Given the description of an element on the screen output the (x, y) to click on. 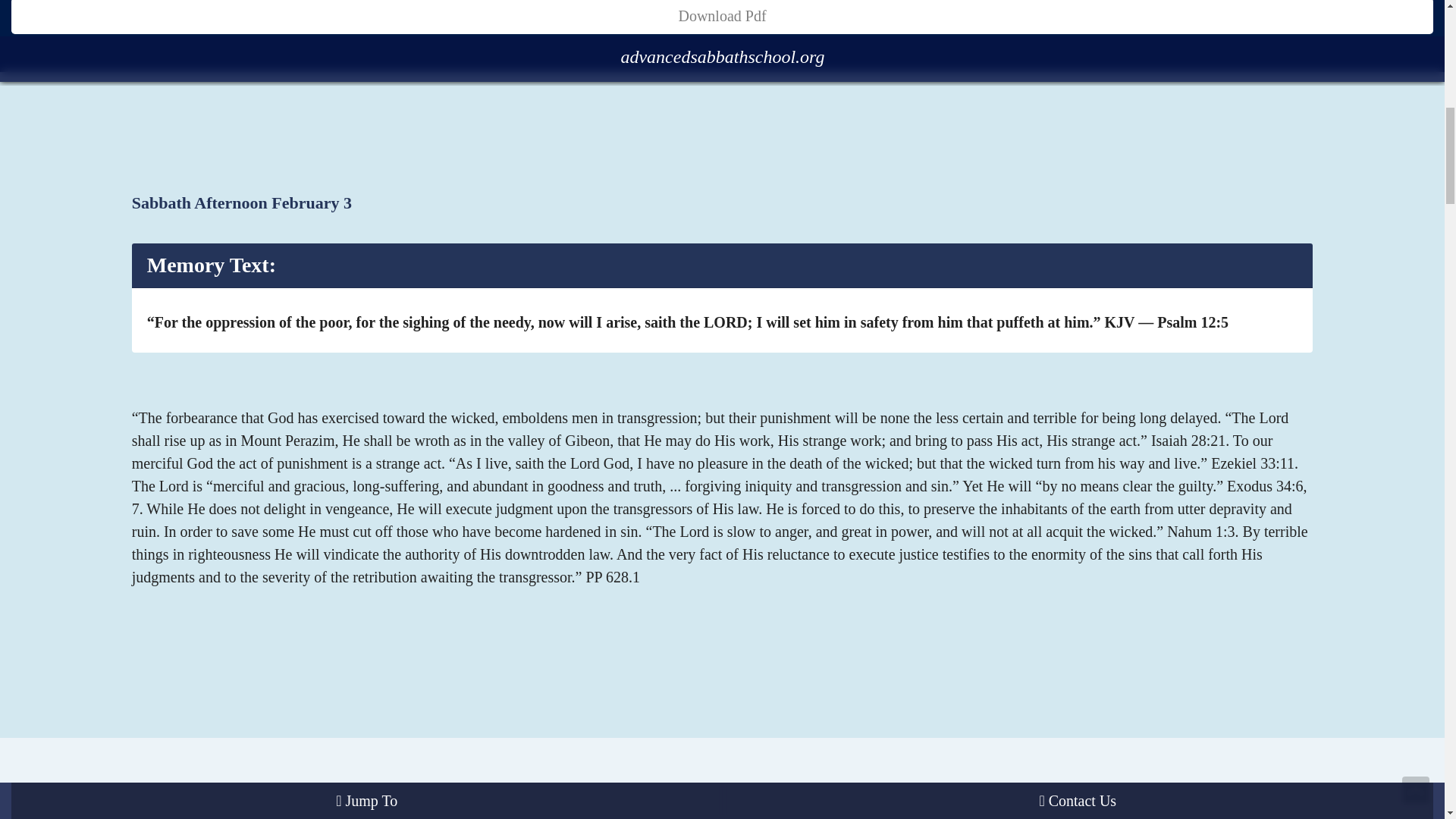
Download Pdf (721, 17)
